Given the description of an element on the screen output the (x, y) to click on. 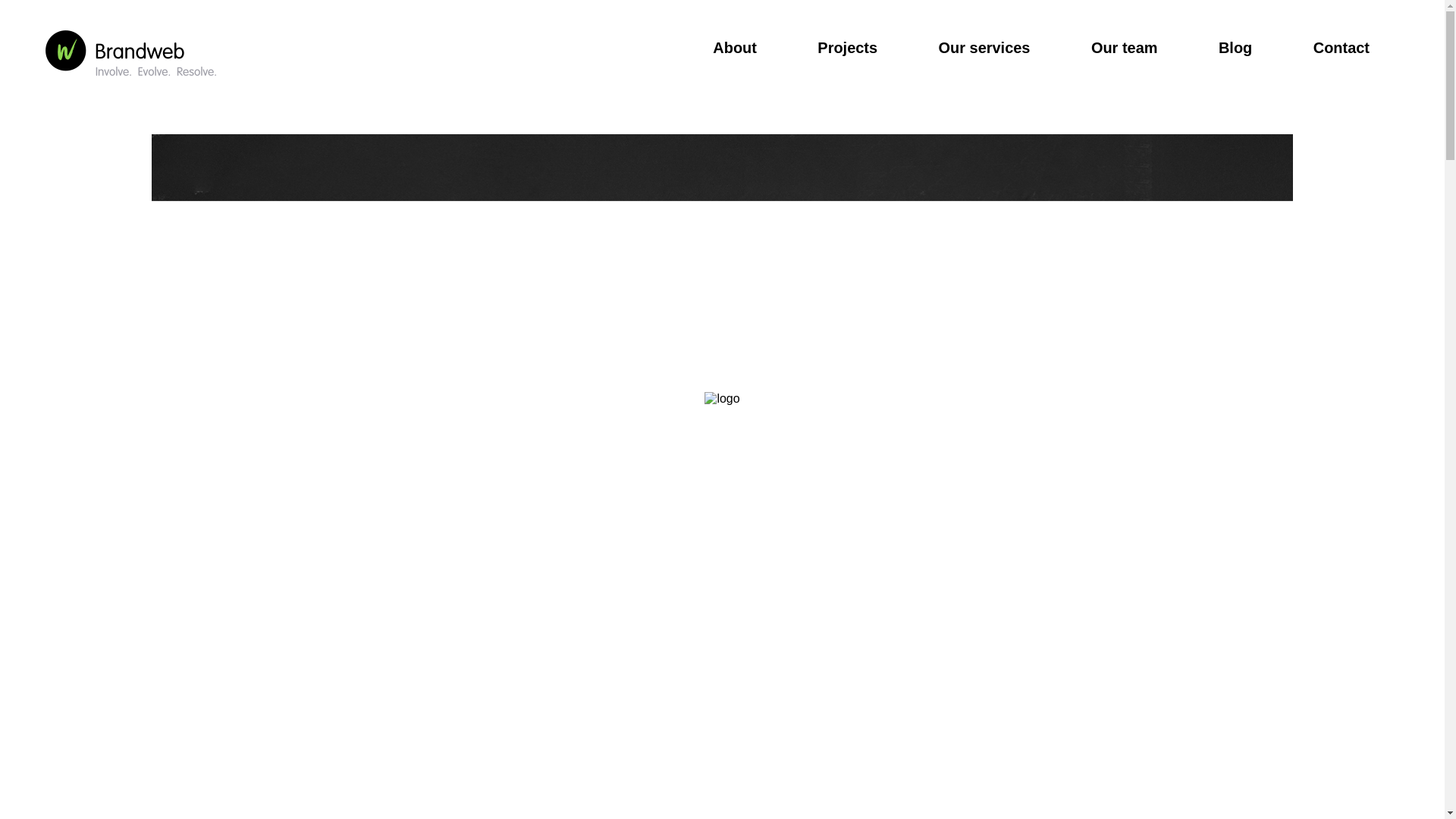
About (735, 47)
Our services (984, 47)
Projects (846, 47)
Our team (1123, 47)
Blog (1235, 47)
Contact (1341, 47)
